Given the description of an element on the screen output the (x, y) to click on. 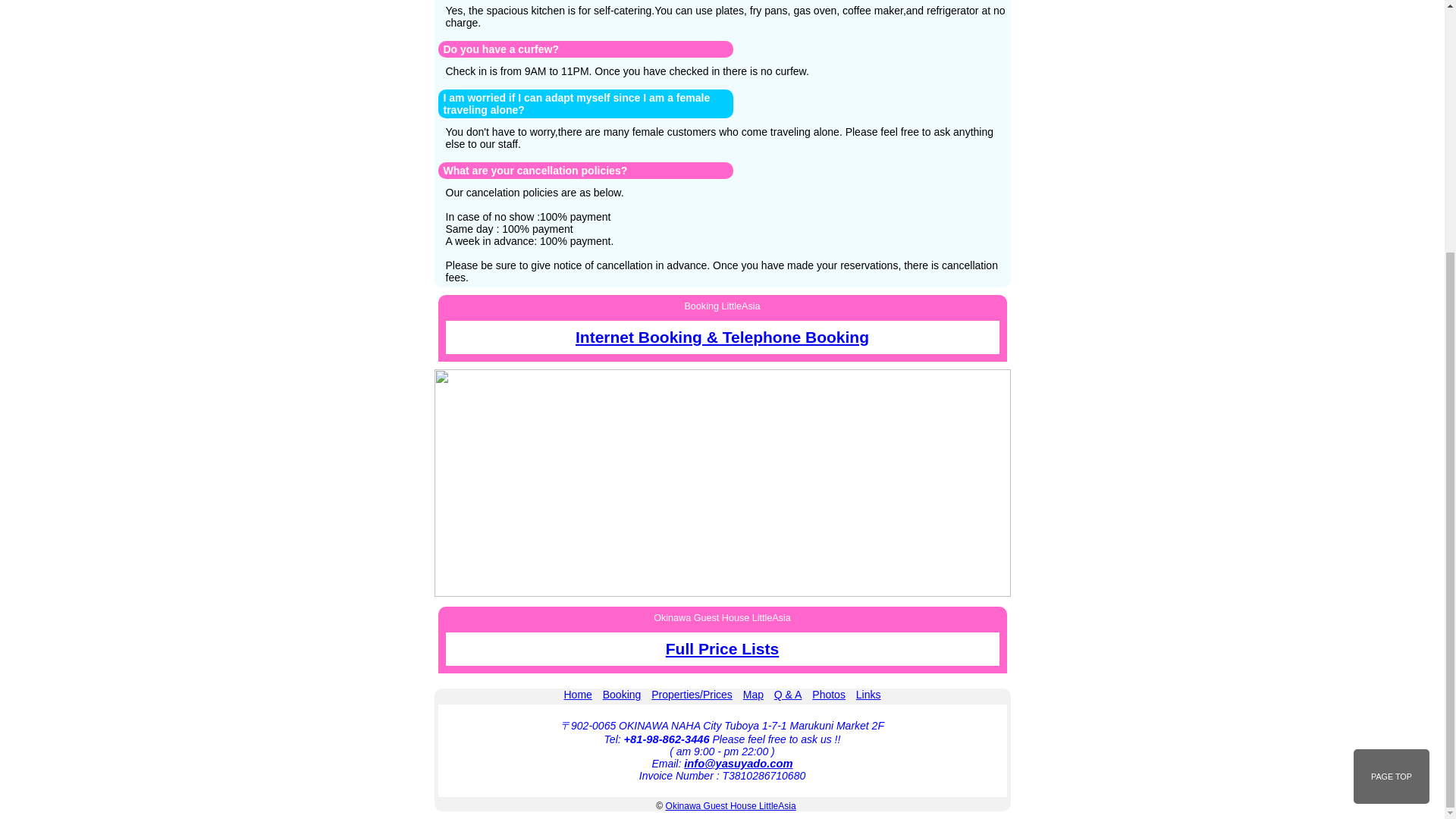
Okinawa Guest House LittleAsia (730, 805)
Full Price Lists (721, 648)
Booking (622, 694)
Home (578, 694)
Links (868, 694)
Map (752, 694)
PAGE TOP (1391, 420)
Photos (828, 694)
